Given the description of an element on the screen output the (x, y) to click on. 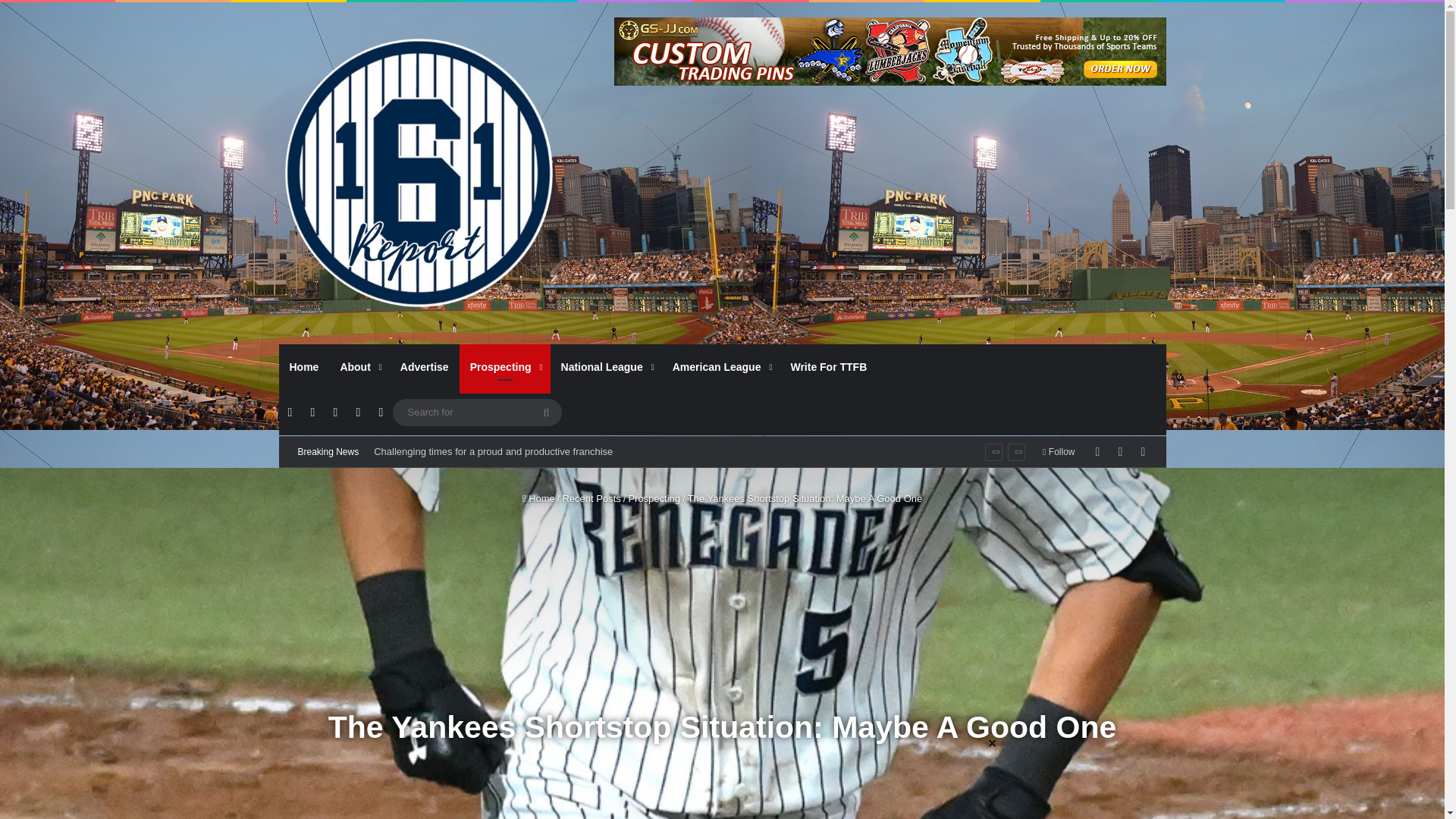
Prospecting (505, 366)
Random Article (1119, 451)
Advertise (425, 366)
Through The Fence Baseball (419, 172)
National League (606, 366)
American League (721, 366)
Search for (477, 411)
About (358, 366)
Home (304, 366)
